Given the description of an element on the screen output the (x, y) to click on. 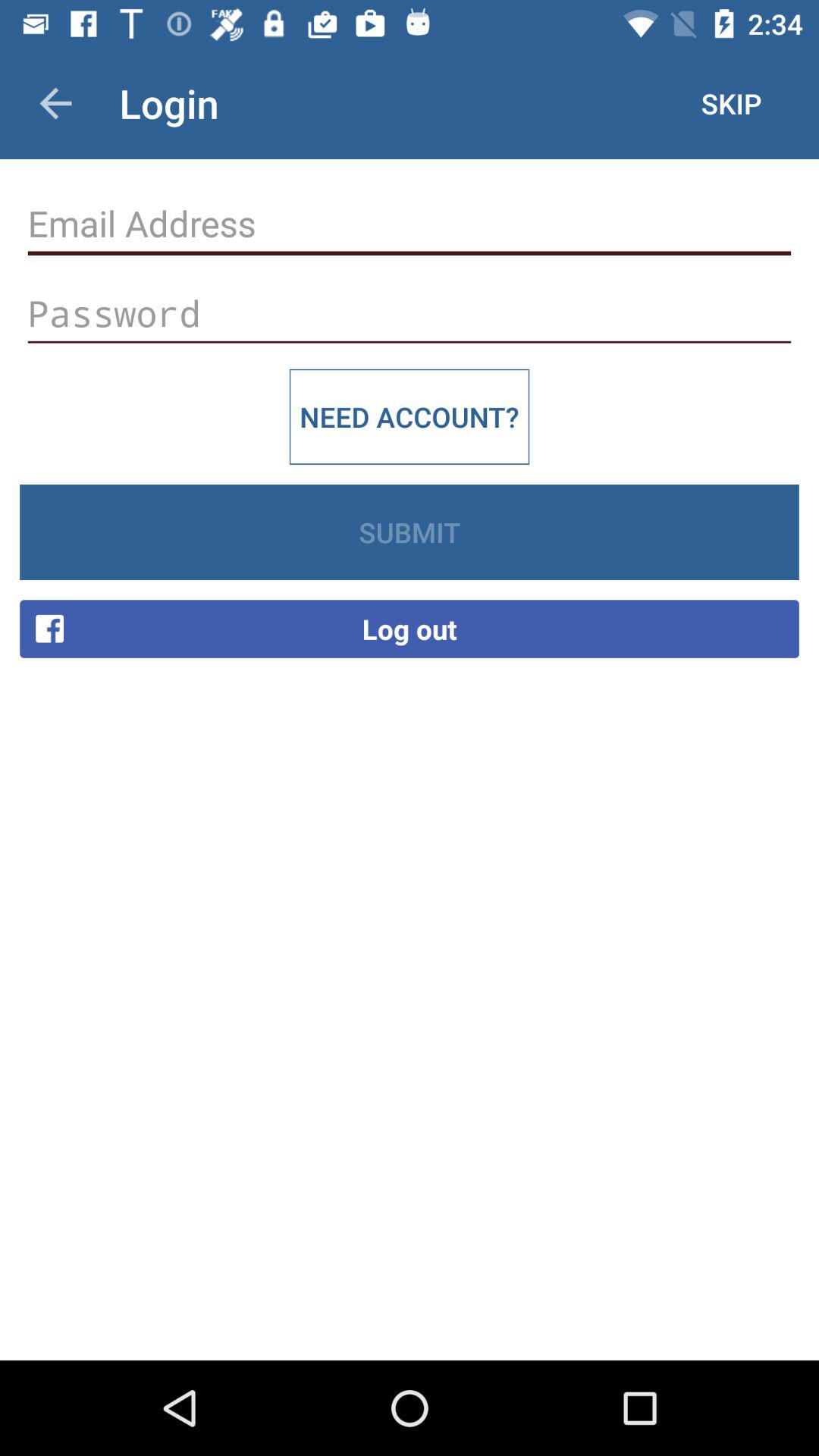
tap skip item (731, 103)
